Given the description of an element on the screen output the (x, y) to click on. 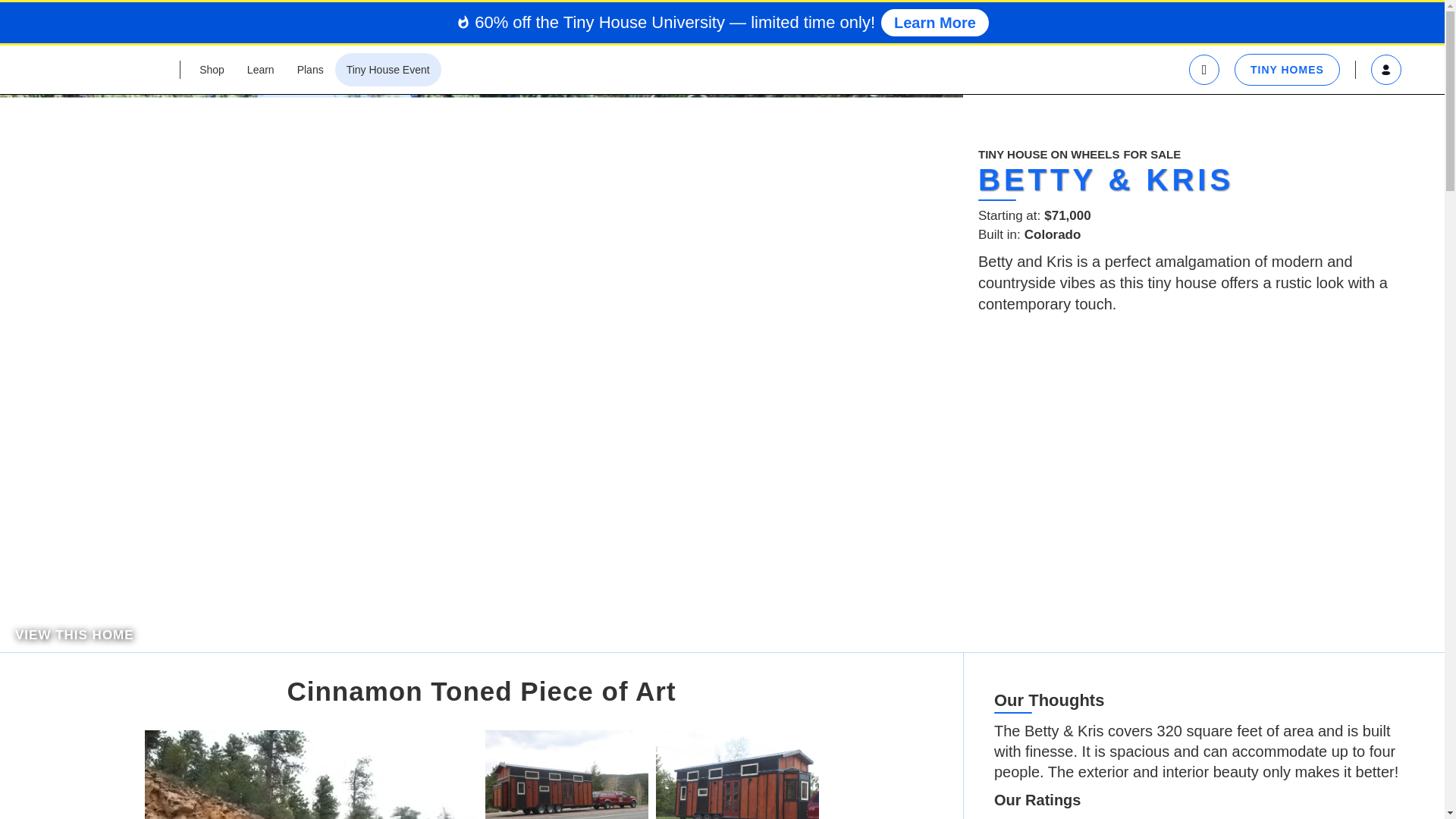
Tiny House Event (387, 69)
TINY HOMES (1286, 69)
Learn More (934, 22)
Shop (211, 69)
Learn (260, 69)
Plans (309, 69)
